Given the description of an element on the screen output the (x, y) to click on. 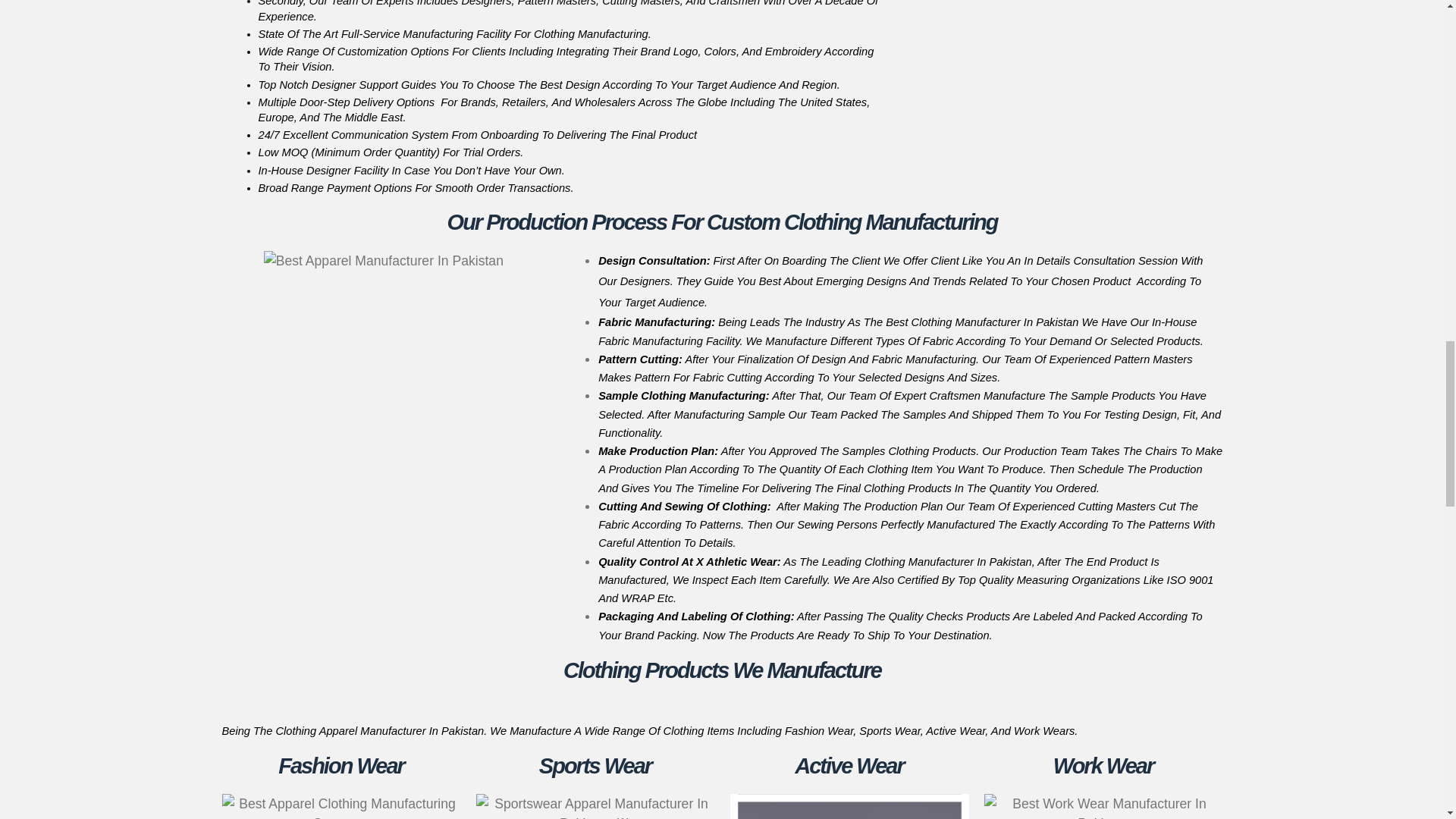
Best Work Wear Manufacturer In Pakistan (1103, 806)
Best Apparel Manufacturer In Pakistan (383, 260)
Best Apparel Clothing Manufacturing Company (340, 806)
